Given the description of an element on the screen output the (x, y) to click on. 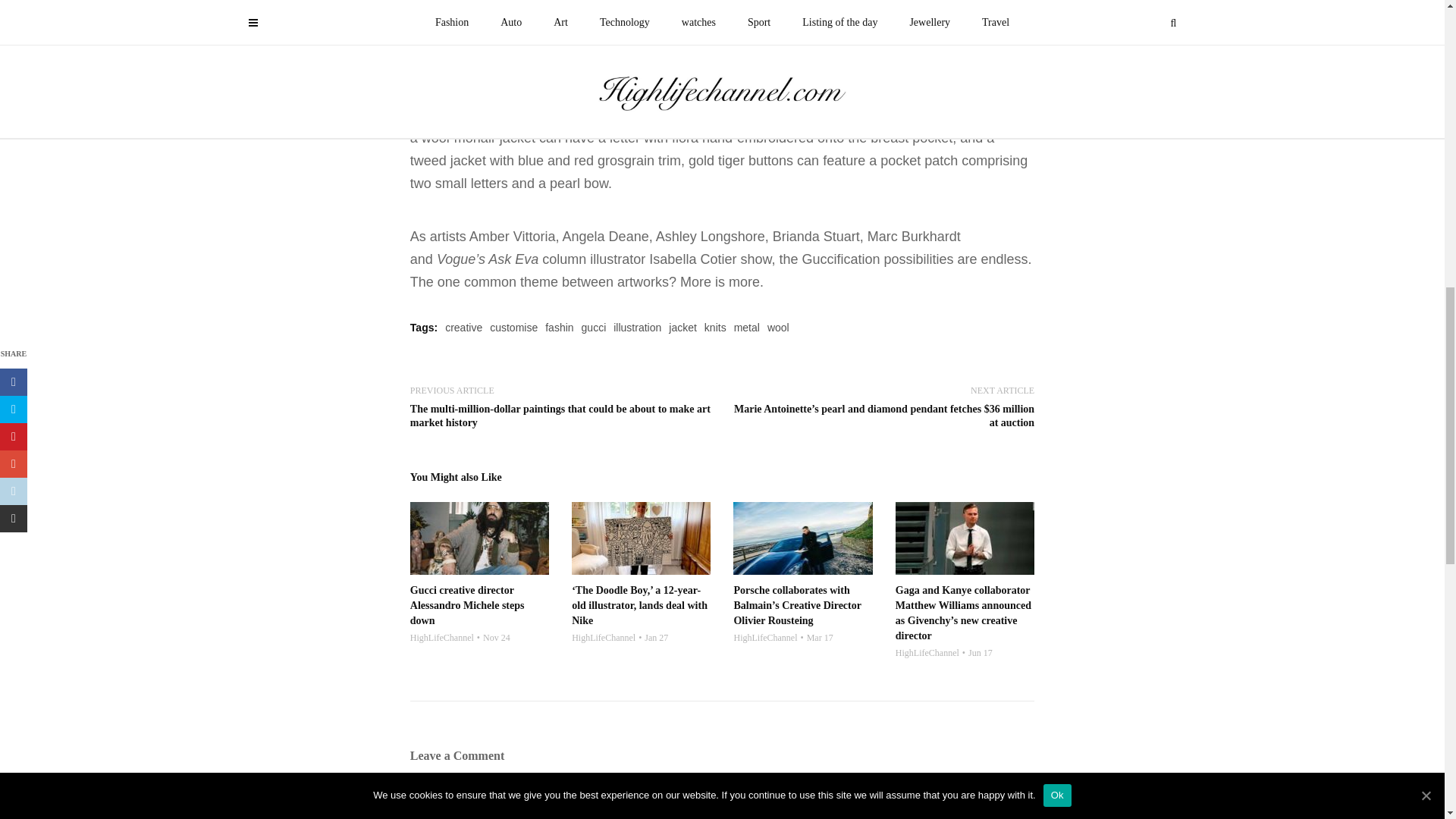
creative (463, 327)
fashin (558, 327)
illustration (636, 327)
jacket (682, 327)
customise (513, 327)
knits (715, 327)
gucci (593, 327)
